Given the description of an element on the screen output the (x, y) to click on. 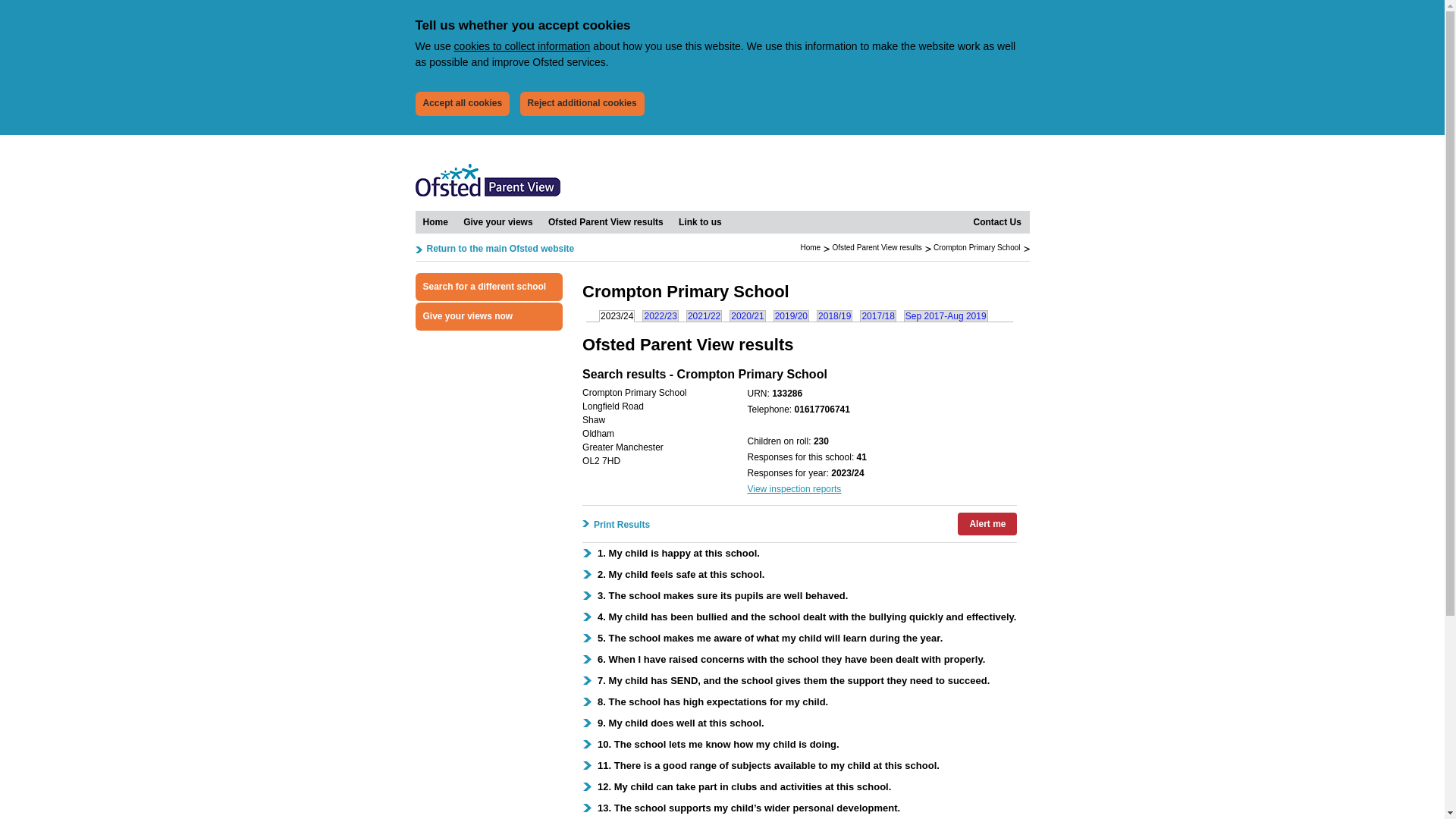
Search for a different school (488, 286)
Home (810, 247)
Ofsted Parent View results (605, 221)
Contact Us (997, 221)
Link to us (700, 221)
Withdraw consent (526, 94)
Give your views now (488, 316)
Give your views (497, 221)
Sep 2017-Aug 2019 (946, 315)
Print Results (620, 524)
Give your views (497, 221)
Ofsted Parent View results (605, 221)
View inspection reports (793, 489)
Reject additional cookies (582, 103)
